Given the description of an element on the screen output the (x, y) to click on. 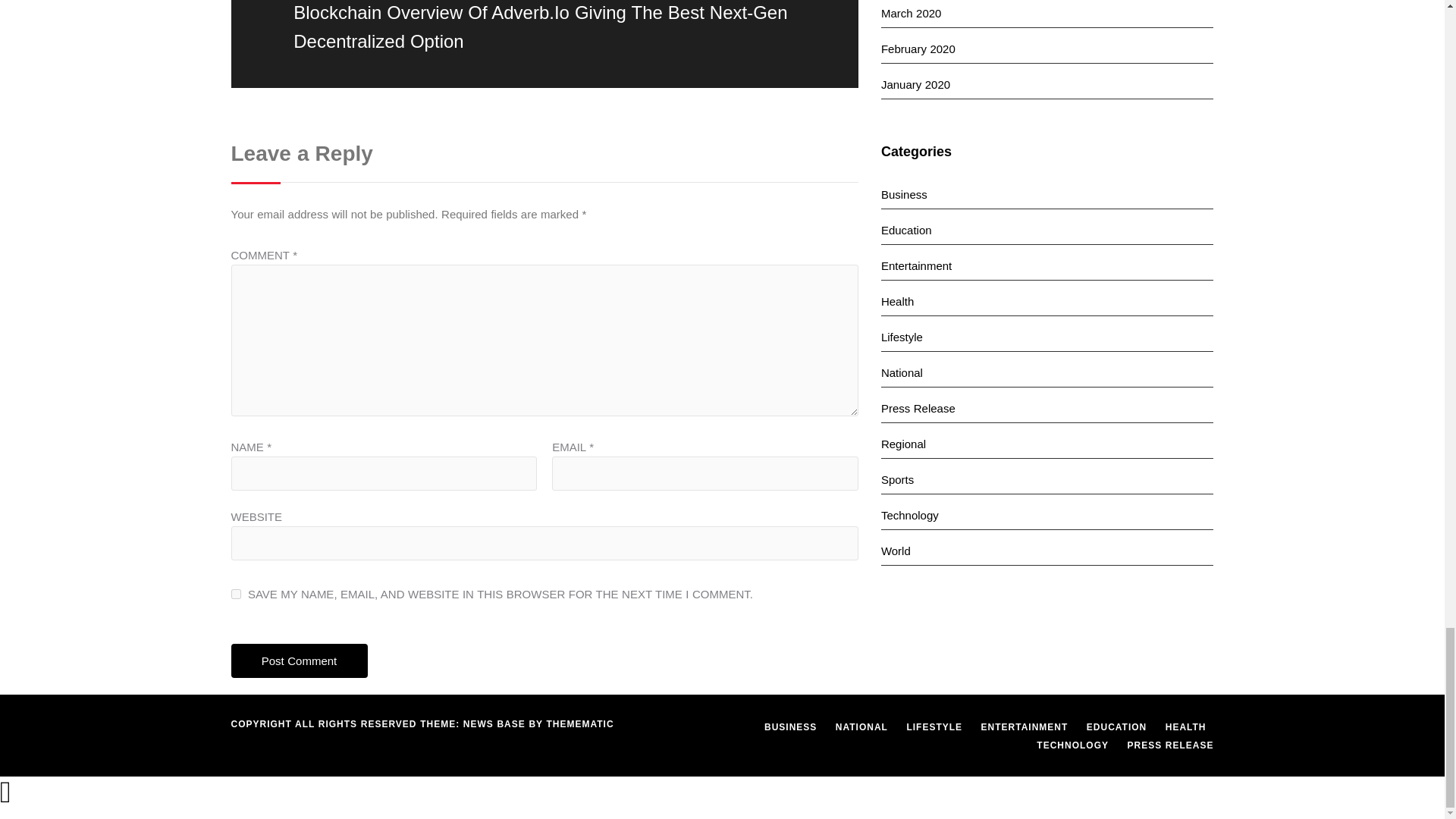
Post Comment (298, 660)
yes (235, 593)
